Given the description of an element on the screen output the (x, y) to click on. 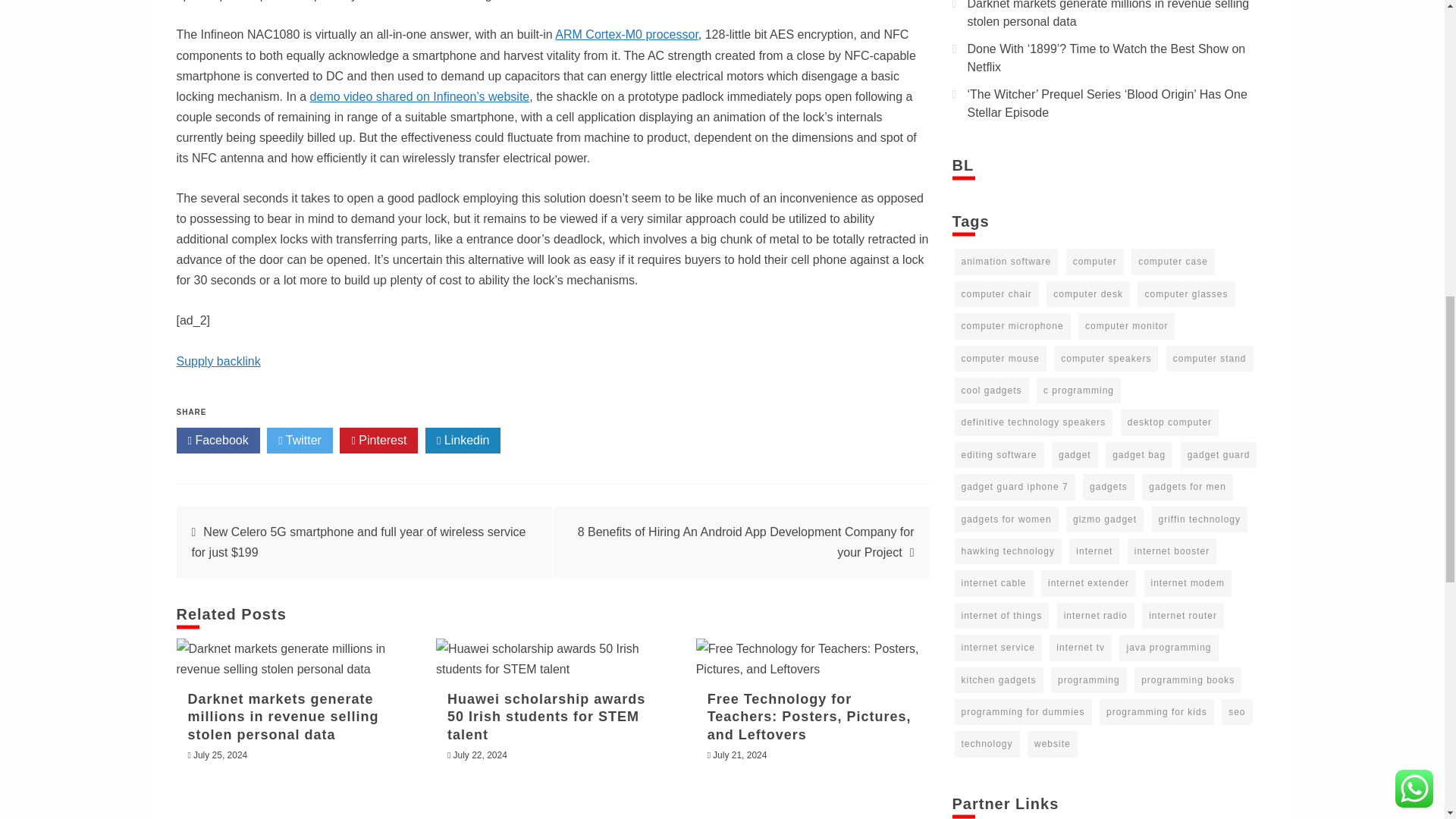
Linkedin (462, 440)
ARM Cortex-M0 processor (626, 33)
Pinterest (378, 440)
Facebook (217, 440)
Supply backlink (218, 360)
Huawei scholarship awards 50 Irish students for STEM talent (552, 658)
Twitter (299, 440)
